Given the description of an element on the screen output the (x, y) to click on. 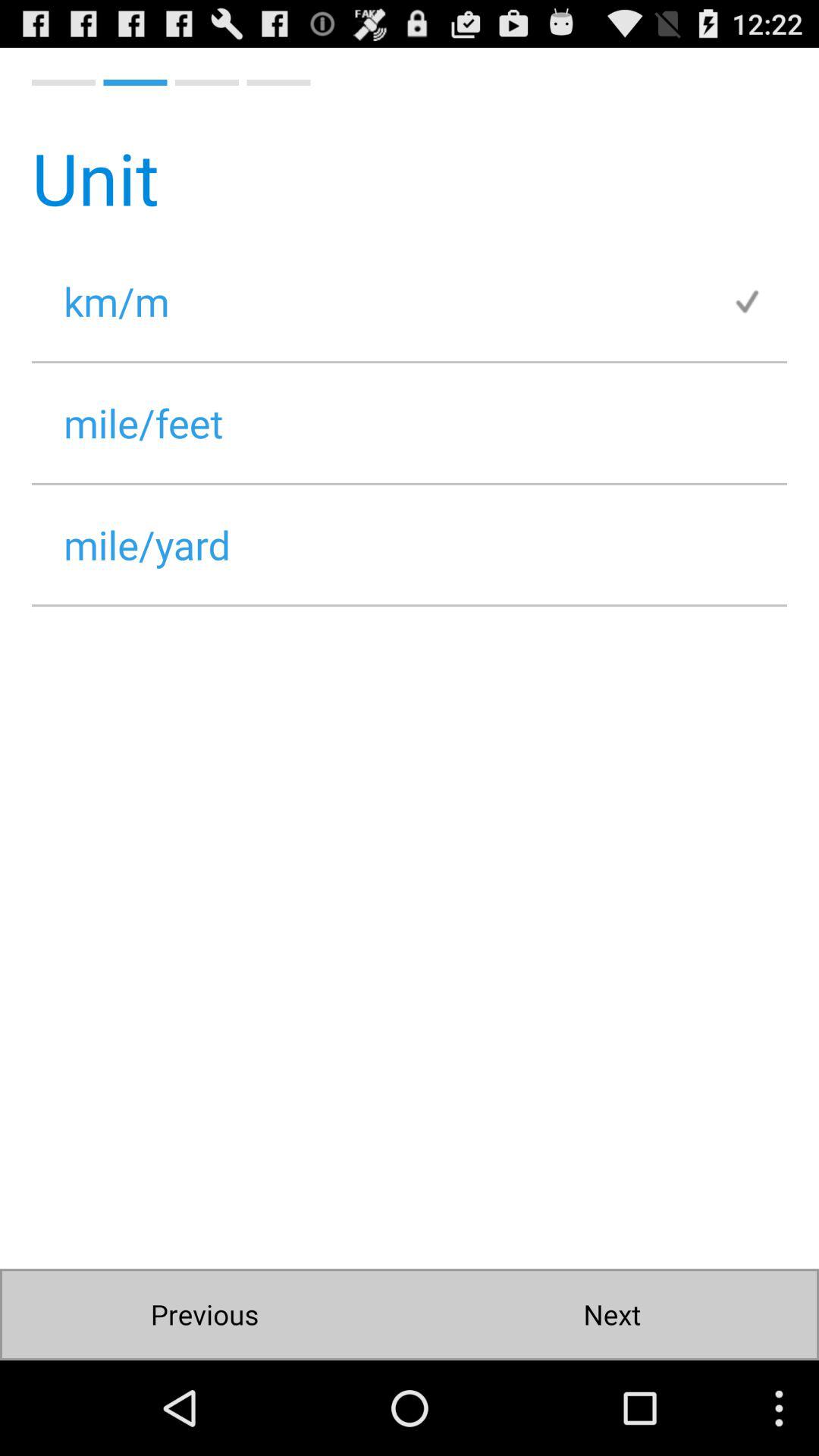
select the icon above the mile/feet app (759, 300)
